Given the description of an element on the screen output the (x, y) to click on. 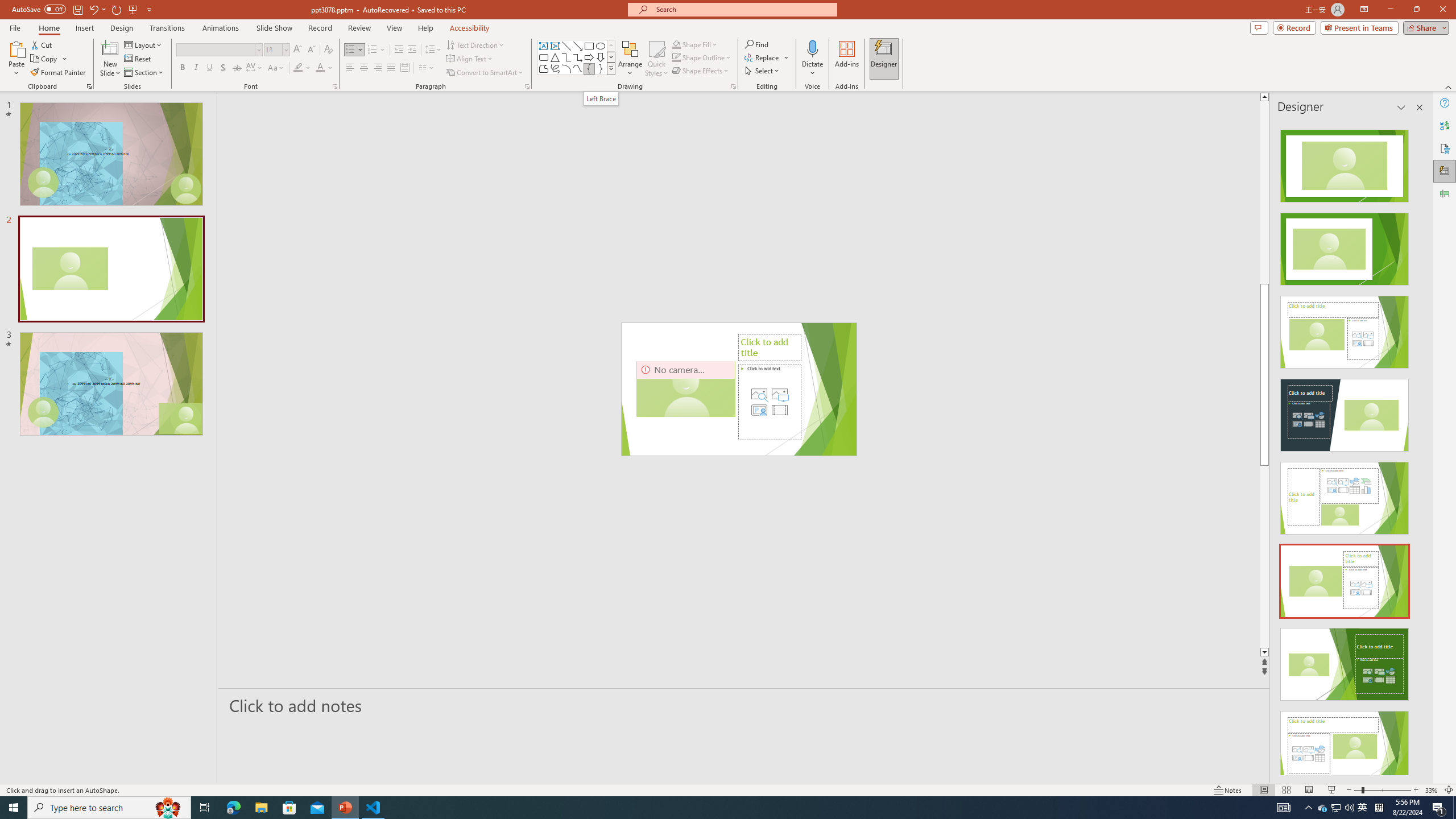
Text Highlight Color (302, 67)
Decrease Indent (398, 49)
Slide (111, 383)
Align Text (470, 58)
Class: NetUIScrollBar (1418, 447)
Rectangle: Rounded Corners (543, 57)
Section (144, 72)
Change Case (276, 67)
Align Left (349, 67)
Task Pane Options (1400, 107)
Rectangle (589, 45)
Insert Cameo (758, 409)
Microsoft search (742, 9)
